Given the description of an element on the screen output the (x, y) to click on. 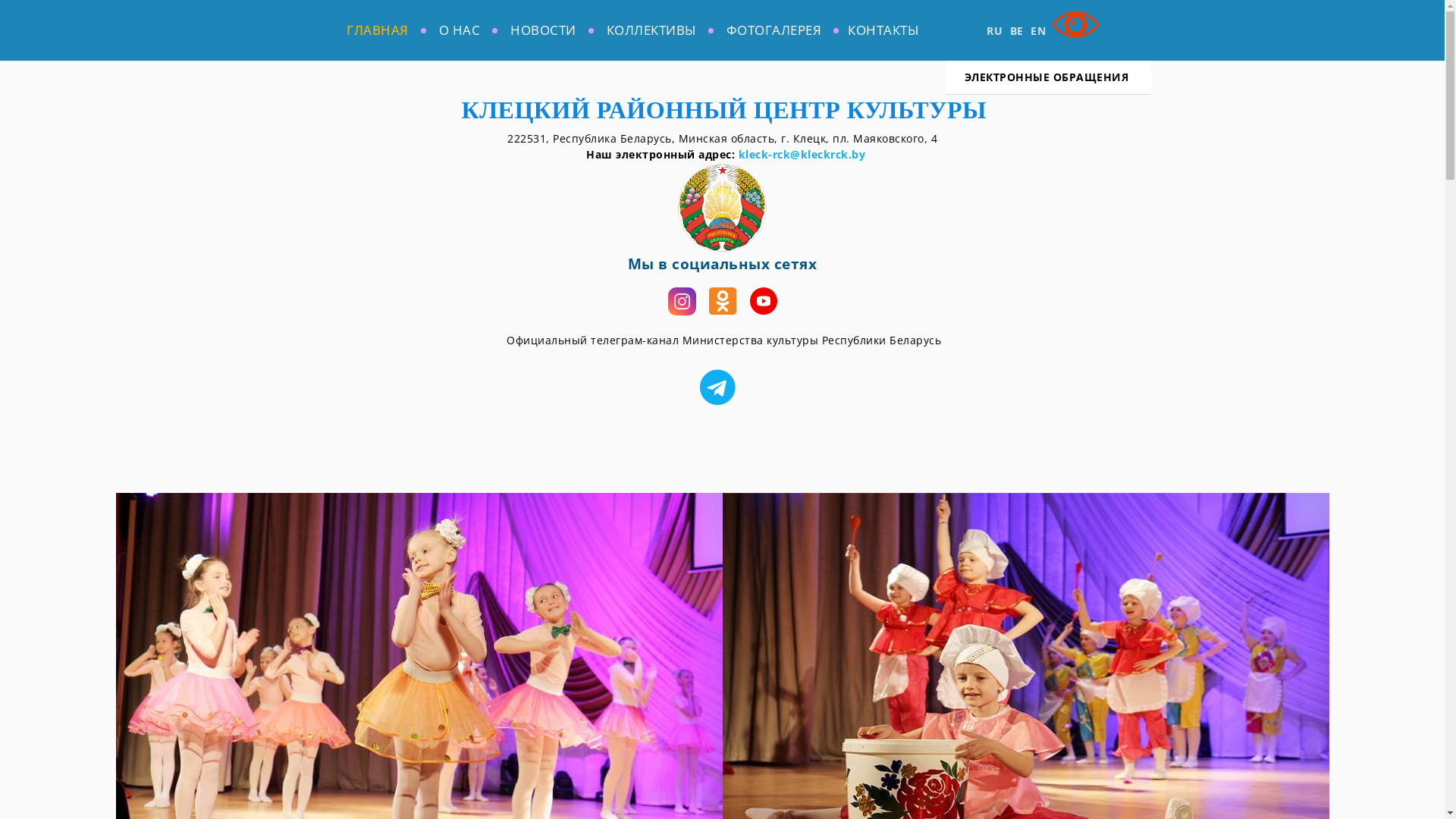
EN Element type: text (1037, 29)
BE Element type: text (1016, 29)
  Element type: text (721, 386)
kleck-rck@kleckrck.by Element type: text (802, 154)
RU Element type: text (994, 29)
